Given the description of an element on the screen output the (x, y) to click on. 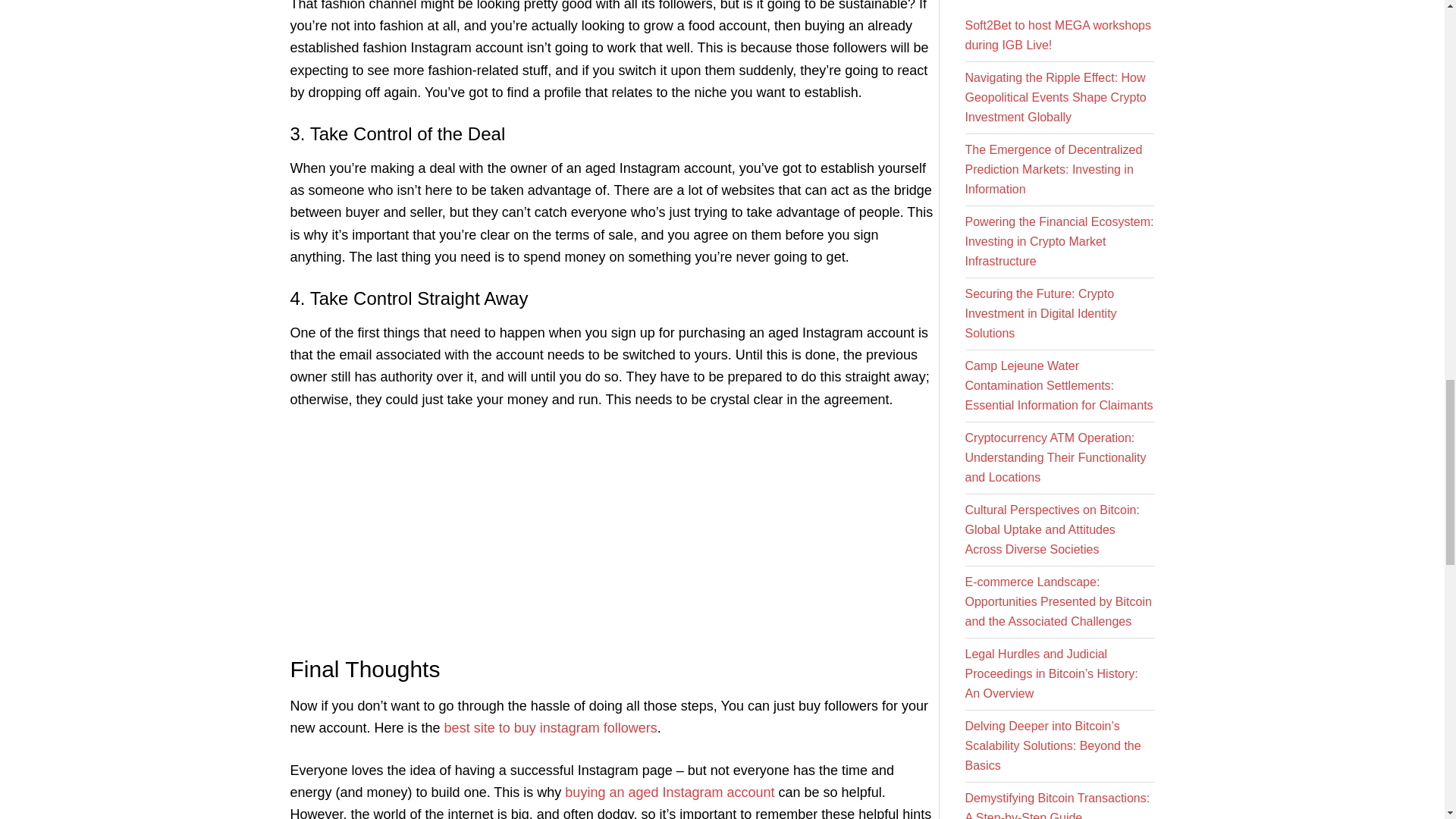
buying an aged Instagram account (669, 792)
best site to buy instagram followers (551, 727)
